Given the description of an element on the screen output the (x, y) to click on. 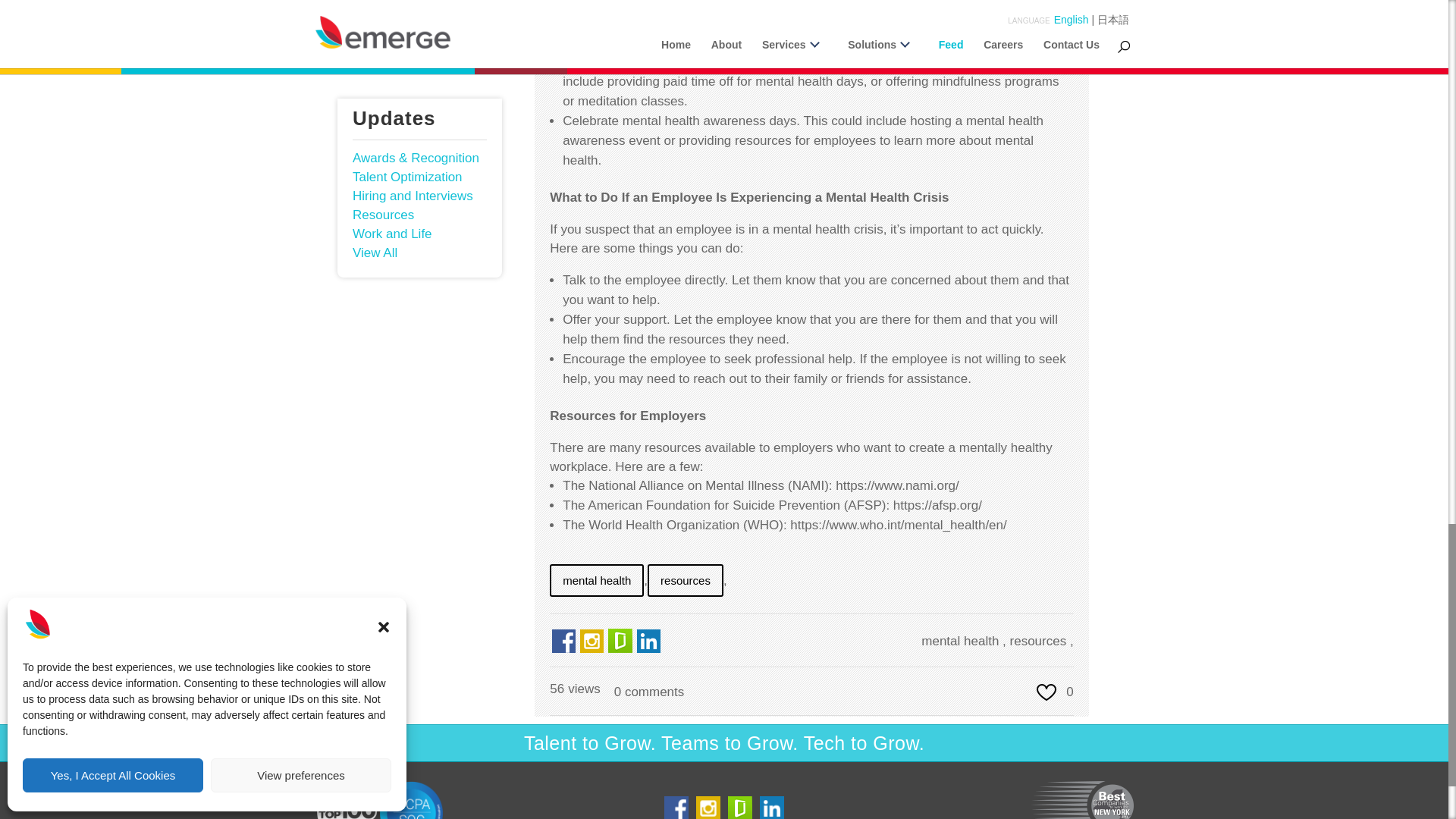
Glassdoor (739, 816)
instagram (591, 640)
Glassdoor (619, 640)
LinkedIn (648, 646)
LinkedIn (649, 640)
Facebook (677, 816)
Glassdoor (740, 807)
instagram (708, 816)
LinkedIn (771, 816)
Facebook (675, 807)
instagram (707, 807)
Facebook (563, 640)
Glassdoor (619, 646)
Facebook (564, 646)
instagram (591, 646)
